Given the description of an element on the screen output the (x, y) to click on. 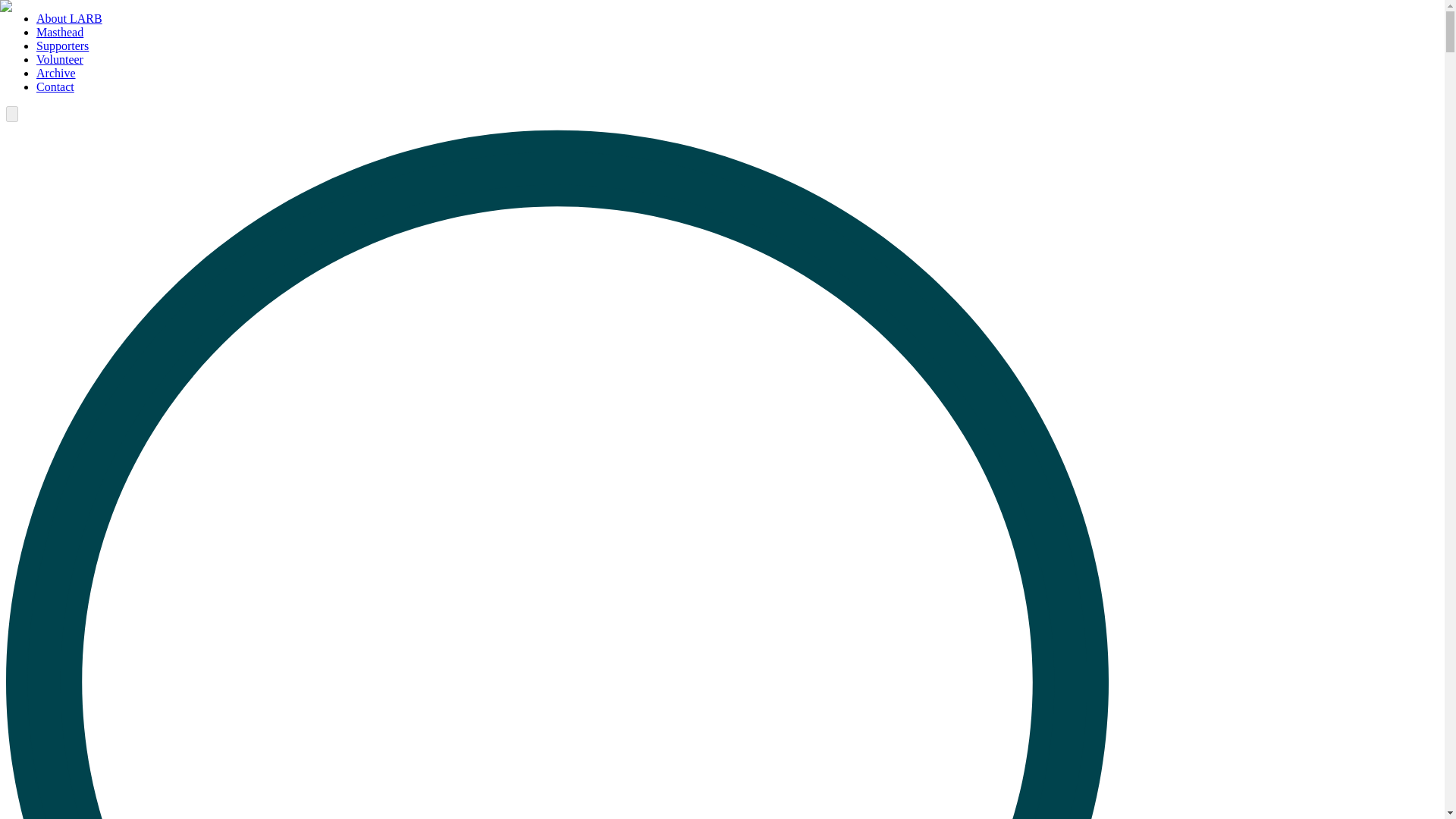
Archive (55, 72)
Volunteer (59, 59)
Supporters (62, 45)
Contact (55, 86)
Masthead (59, 31)
About LARB (68, 18)
